Given the description of an element on the screen output the (x, y) to click on. 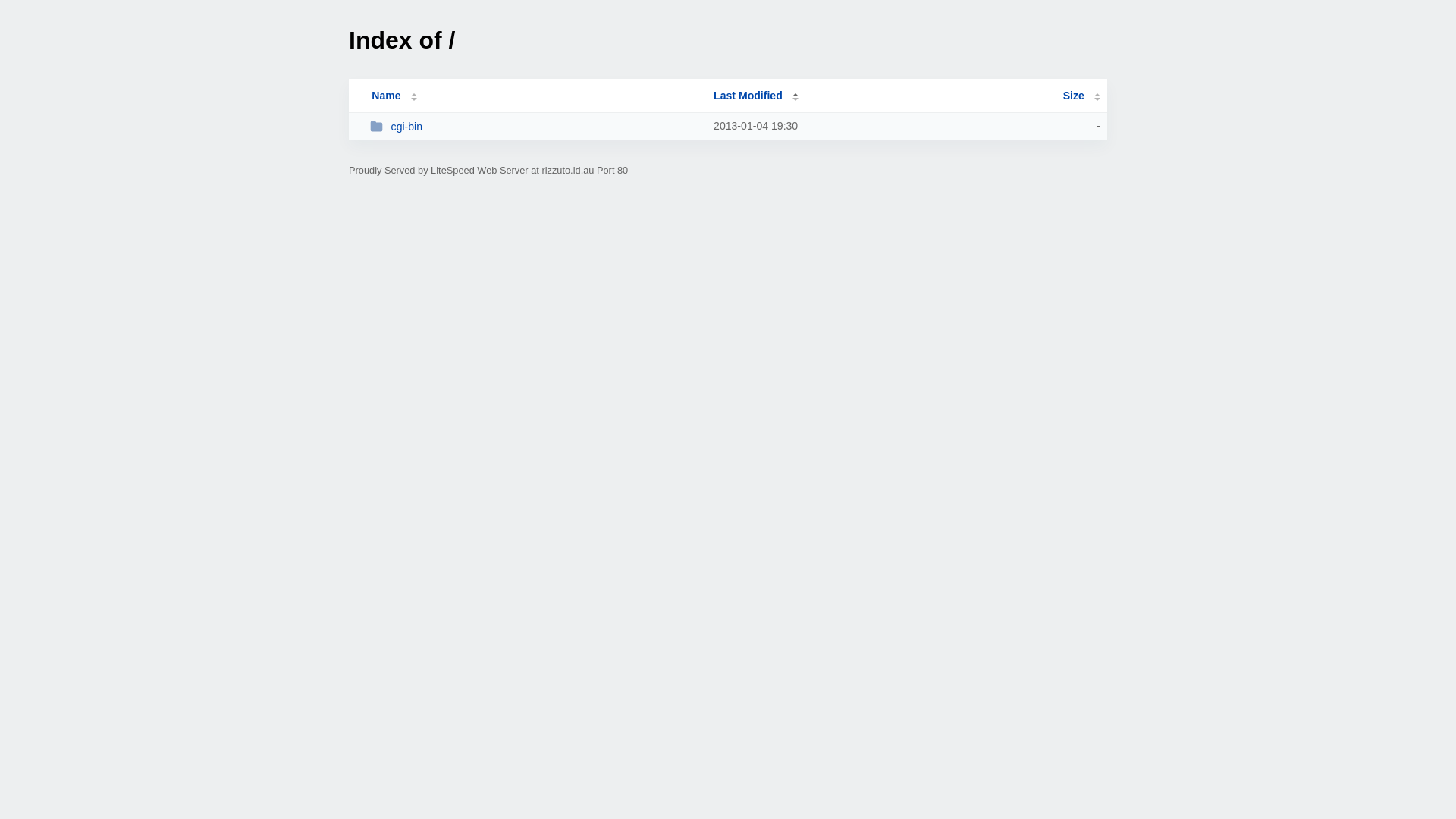
Name Element type: text (385, 95)
Size Element type: text (1081, 95)
cgi-bin Element type: text (534, 125)
Last Modified Element type: text (755, 95)
